Given the description of an element on the screen output the (x, y) to click on. 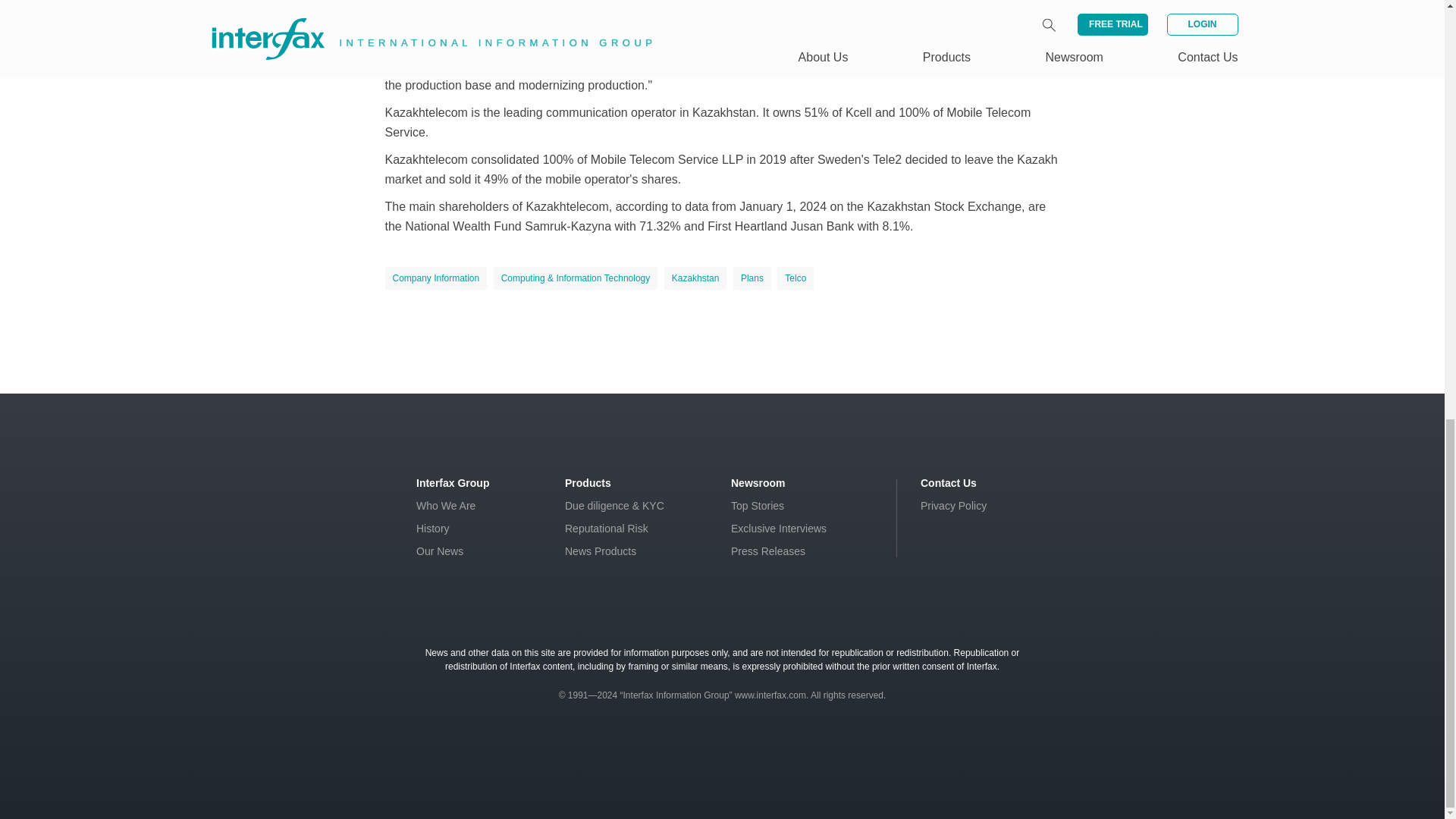
Company Information (436, 277)
Kazakhstan (694, 277)
Plans (752, 277)
